Given the description of an element on the screen output the (x, y) to click on. 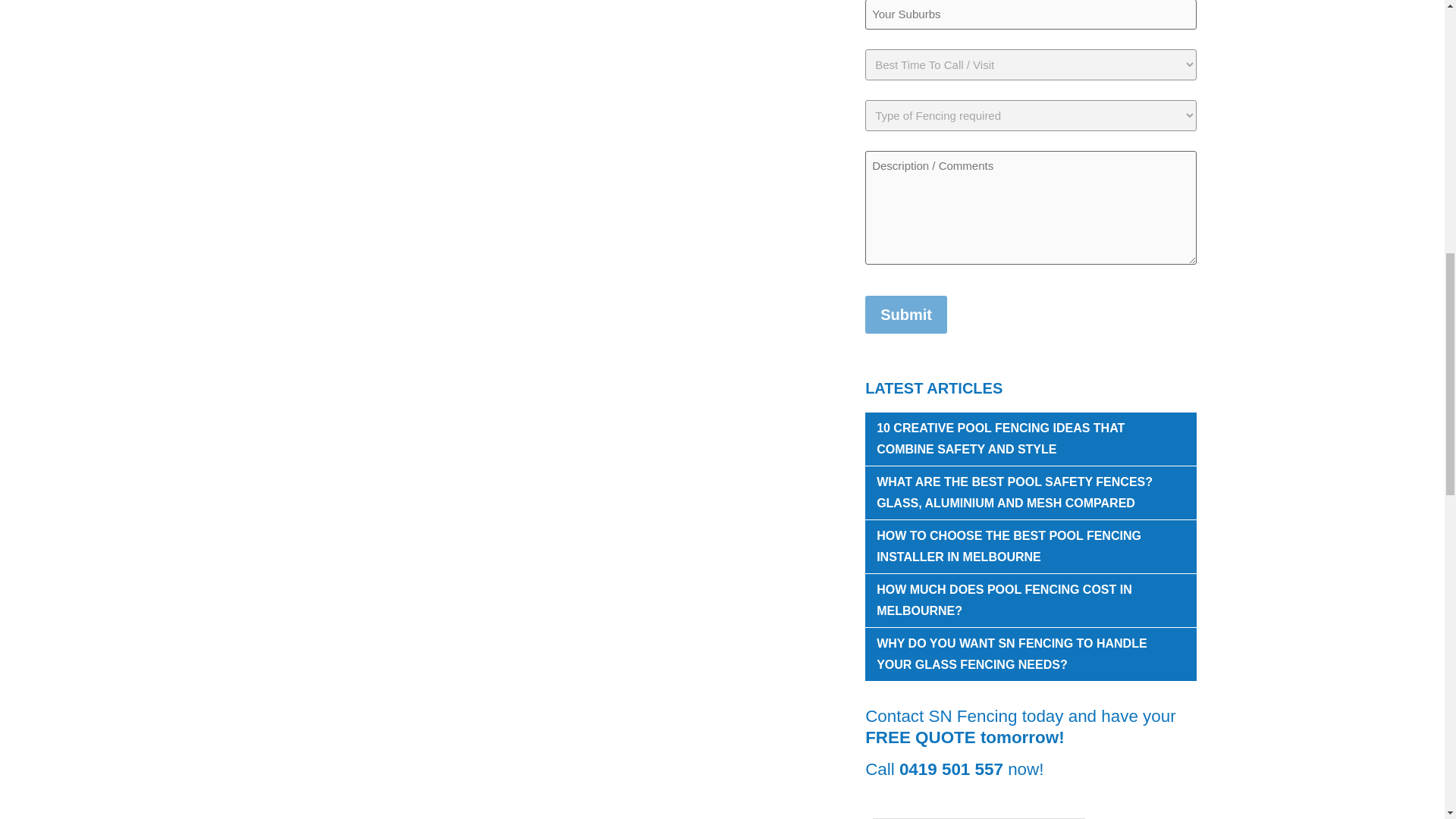
Submit (905, 314)
